Given the description of an element on the screen output the (x, y) to click on. 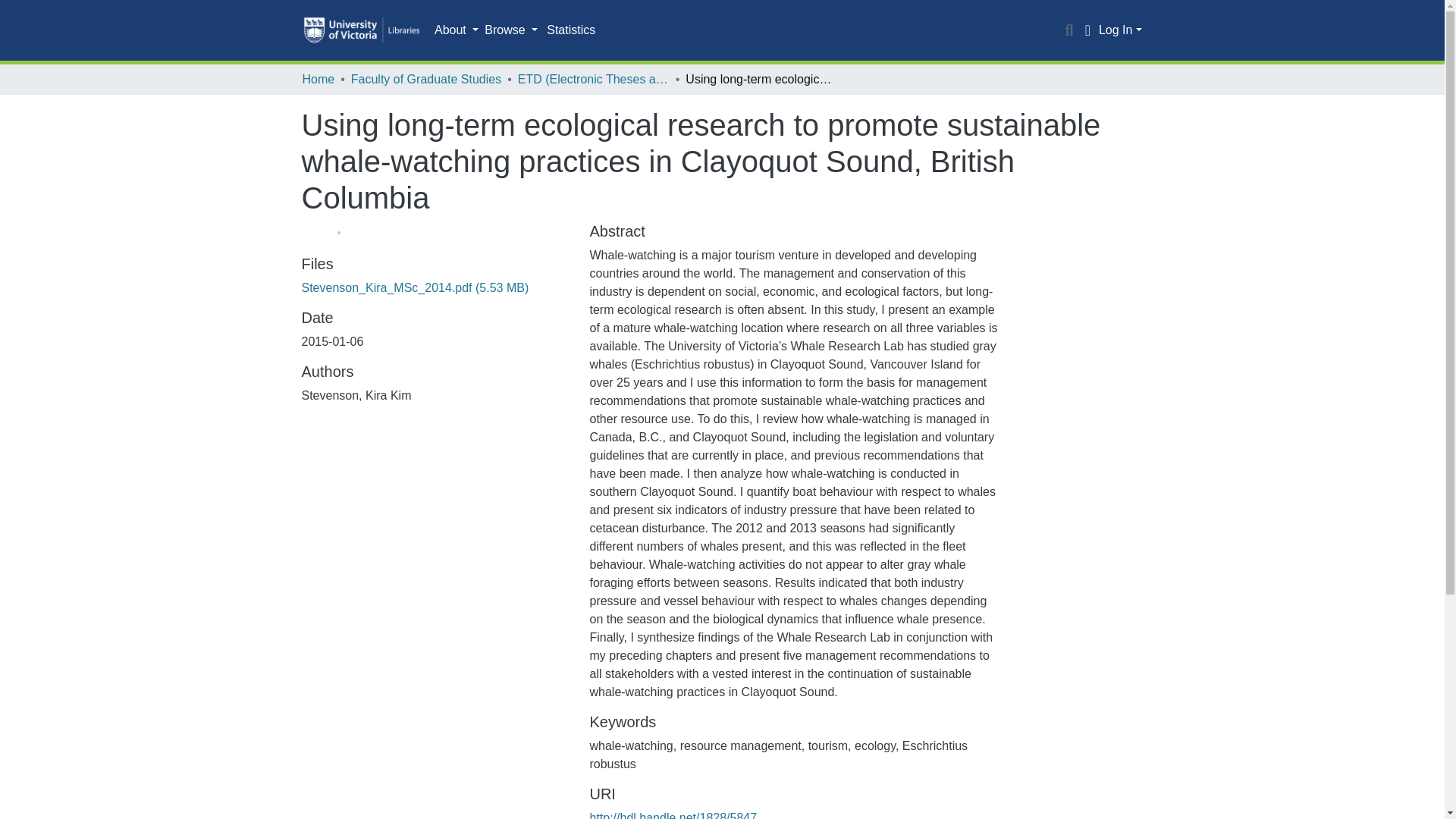
Statistics (570, 30)
About (455, 30)
Browse (510, 30)
Statistics (570, 30)
Search (1068, 30)
Faculty of Graduate Studies (425, 79)
Log In (1119, 29)
Language switch (1087, 30)
Home (317, 79)
